Given the description of an element on the screen output the (x, y) to click on. 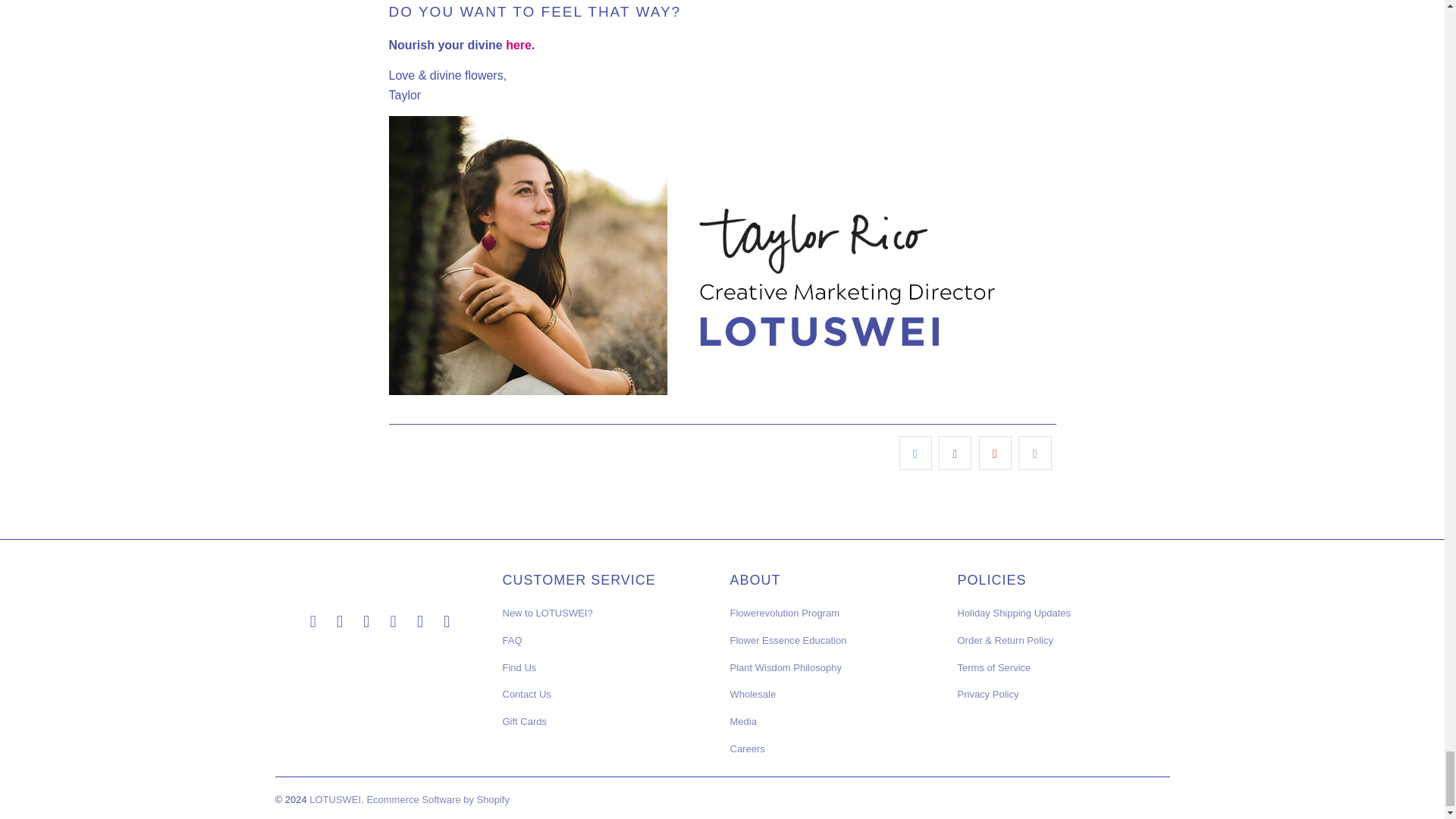
Share this on Pinterest (994, 452)
Share this on Facebook (955, 452)
Email this to a friend (1034, 452)
LOTUSWEI on Twitter (312, 621)
Share this on Twitter (915, 452)
